Given the description of an element on the screen output the (x, y) to click on. 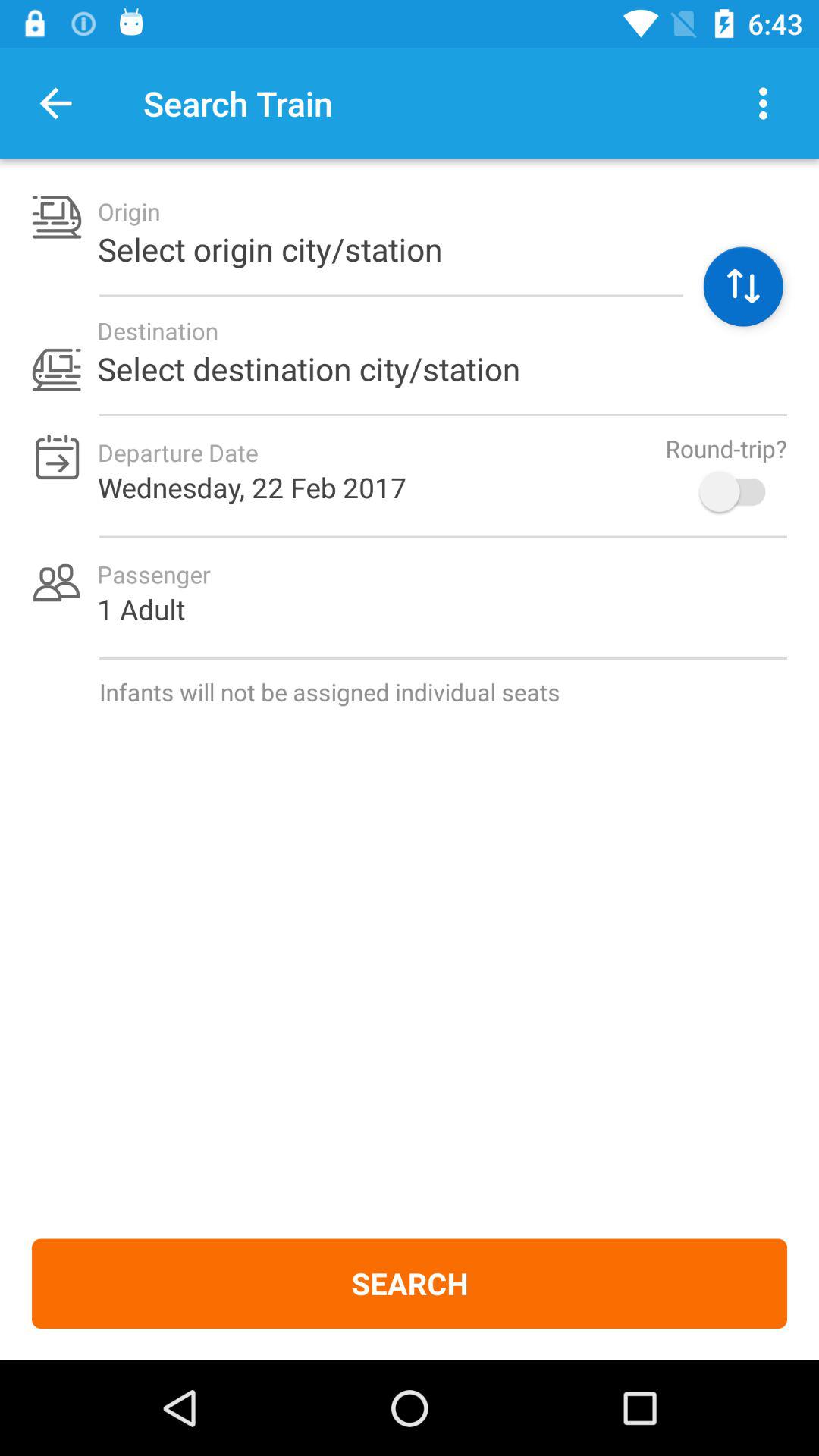
click here to access all fields of origin destination day of the week number of people (743, 286)
